Given the description of an element on the screen output the (x, y) to click on. 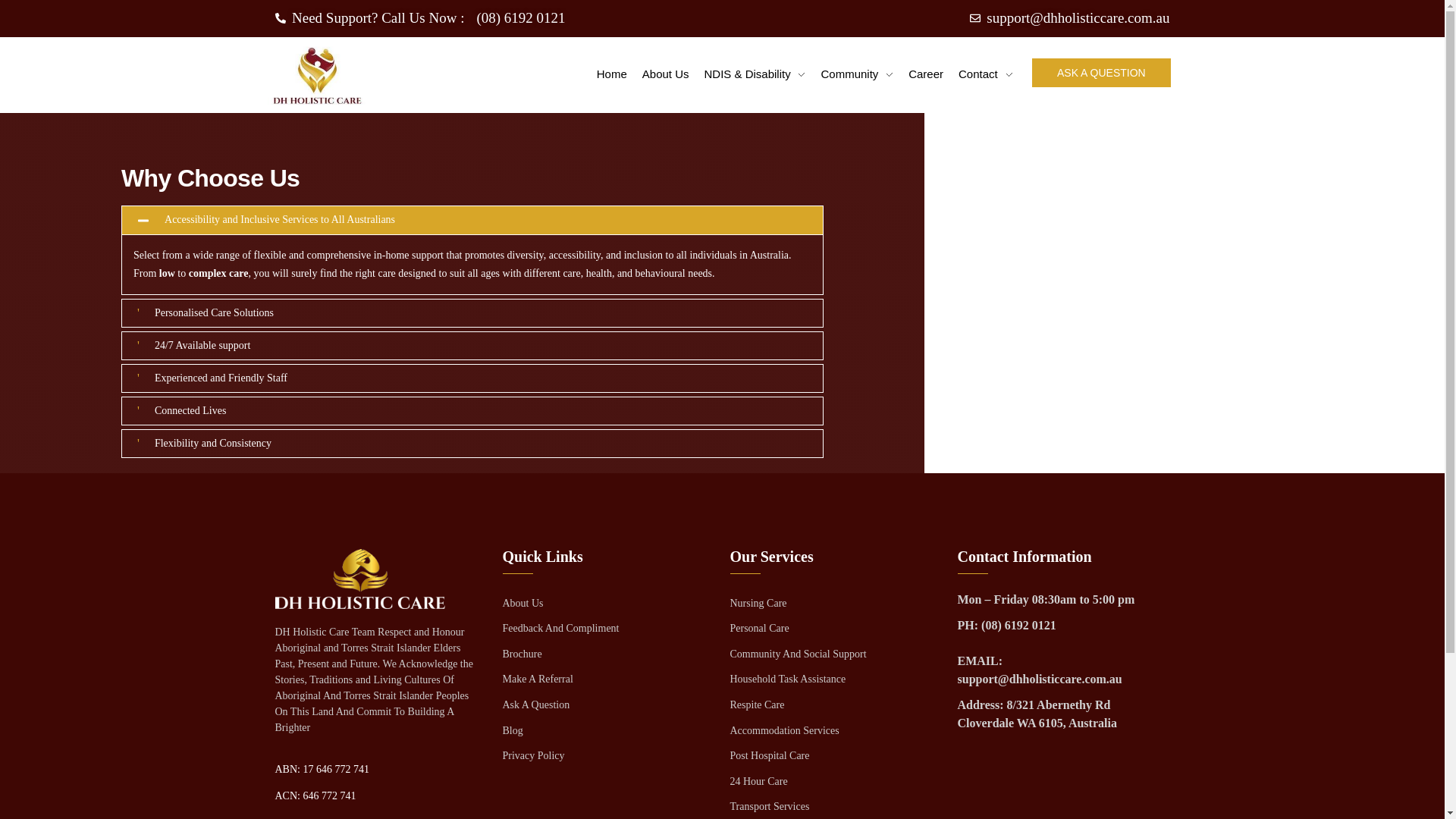
Community (856, 74)
ASK A QUESTION (1100, 72)
Career (925, 74)
Contact (985, 74)
About Us (665, 74)
Home (611, 74)
